Given the description of an element on the screen output the (x, y) to click on. 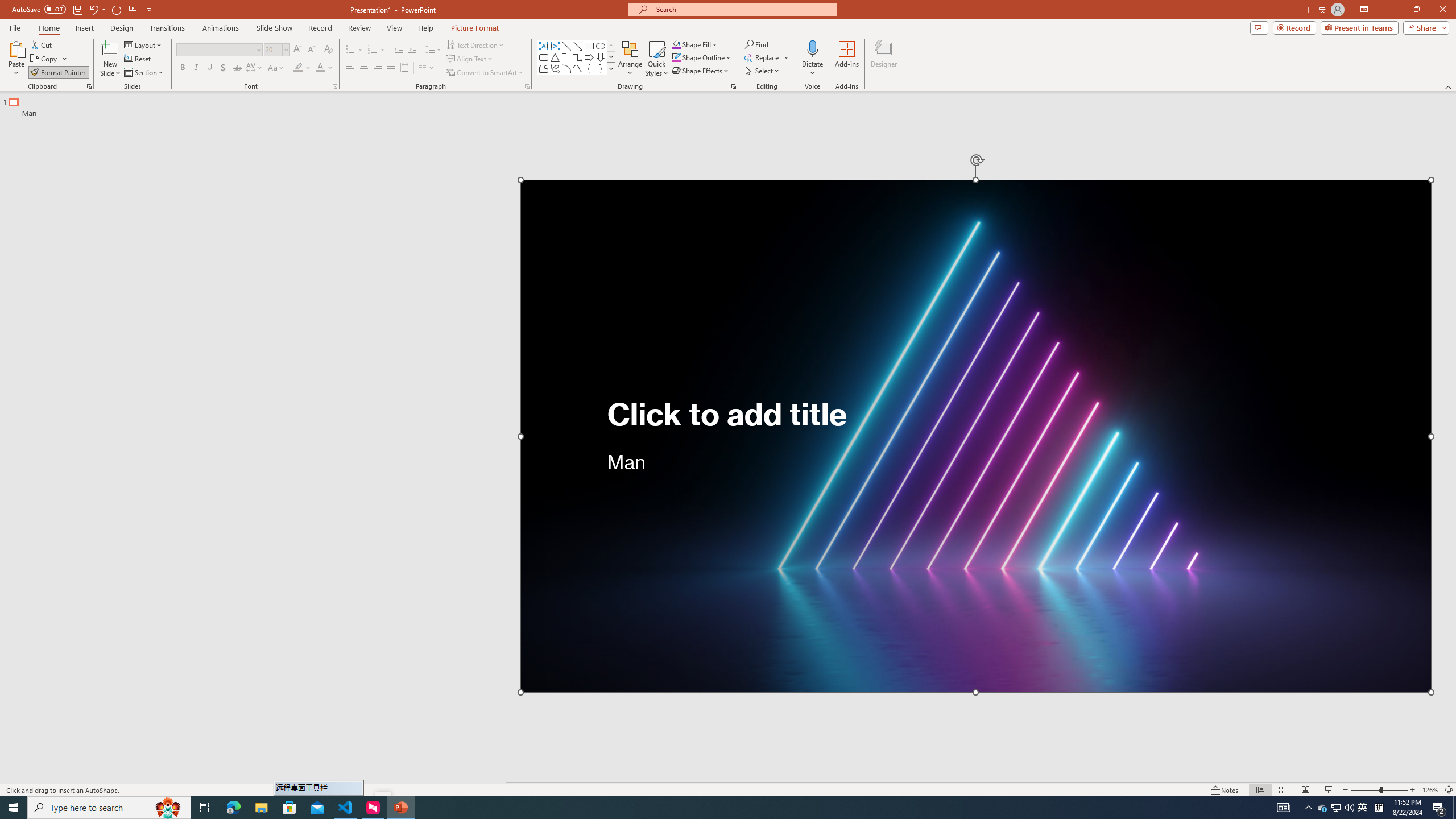
Picture Format (475, 28)
